Given the description of an element on the screen output the (x, y) to click on. 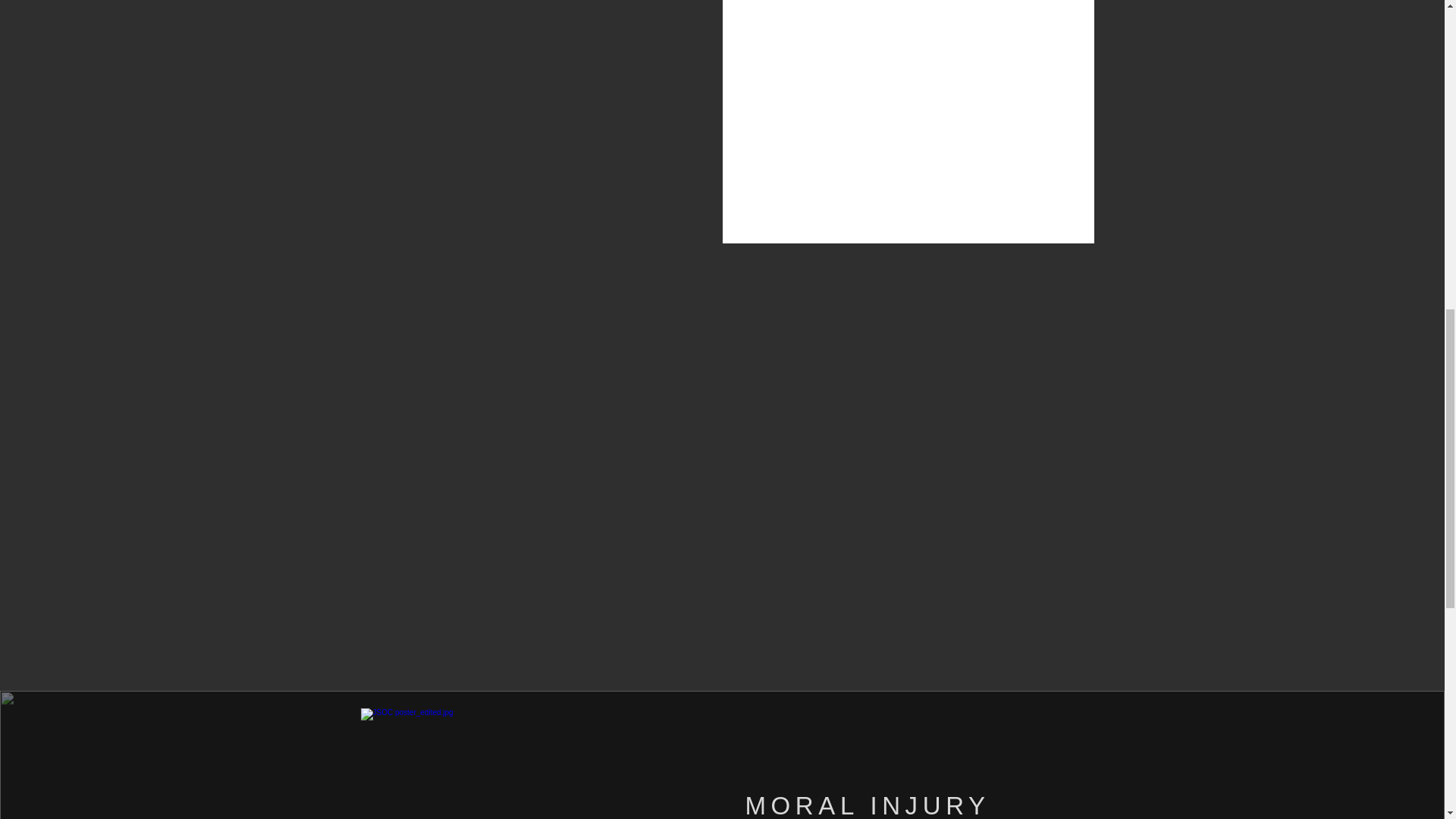
MORAL INJURY AMONG SPECIAL OPERATIONS FORCES (880, 807)
